Given the description of an element on the screen output the (x, y) to click on. 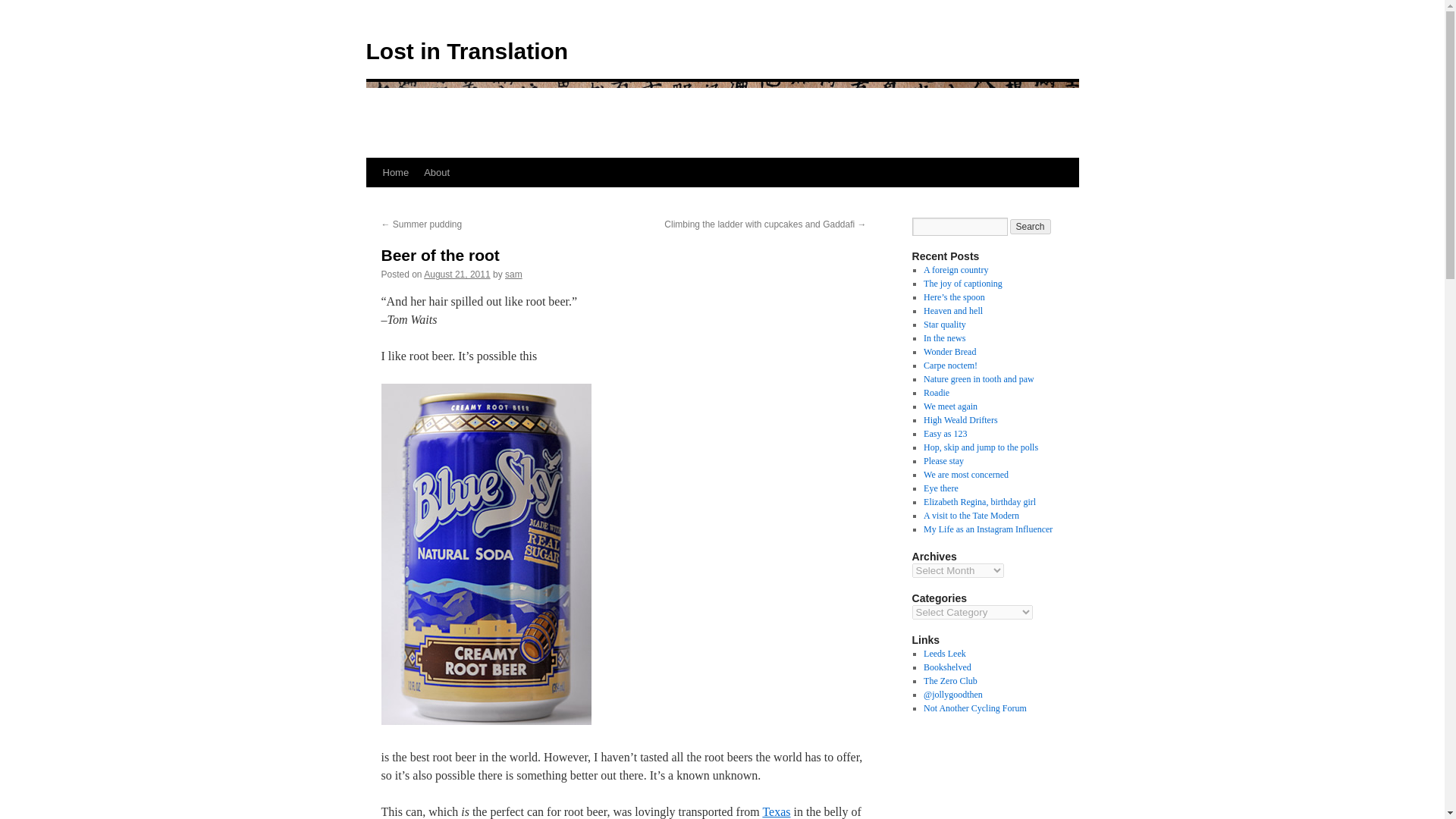
sam (513, 274)
Easy as 123 (944, 433)
View all posts by sam (513, 274)
Carpe noctem! (949, 365)
Please stay (943, 460)
A visit to the Tate Modern (971, 515)
Lost in Translation (466, 50)
High Weald Drifters (960, 419)
In the news (944, 337)
4:16 pm (456, 274)
